Given the description of an element on the screen output the (x, y) to click on. 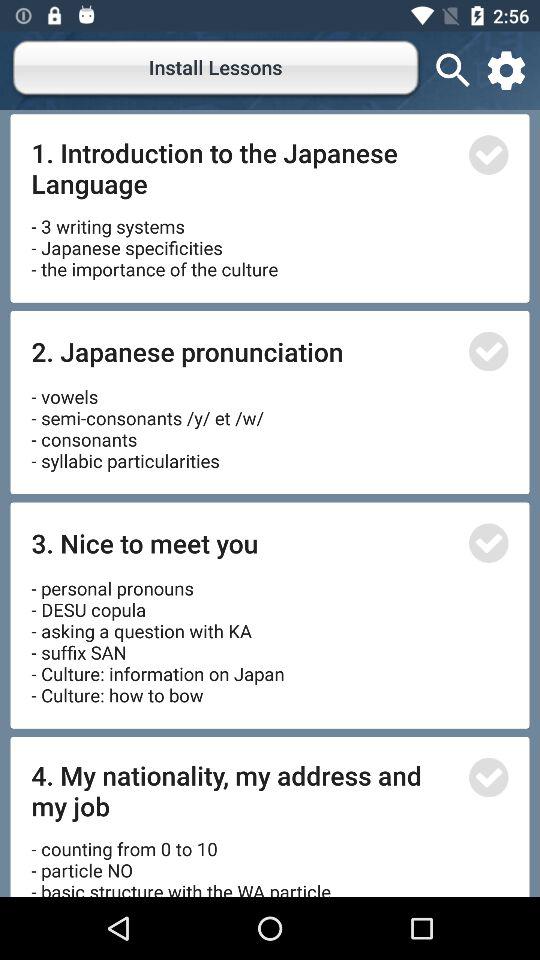
select item above the 2. japanese pronunciation (154, 240)
